Given the description of an element on the screen output the (x, y) to click on. 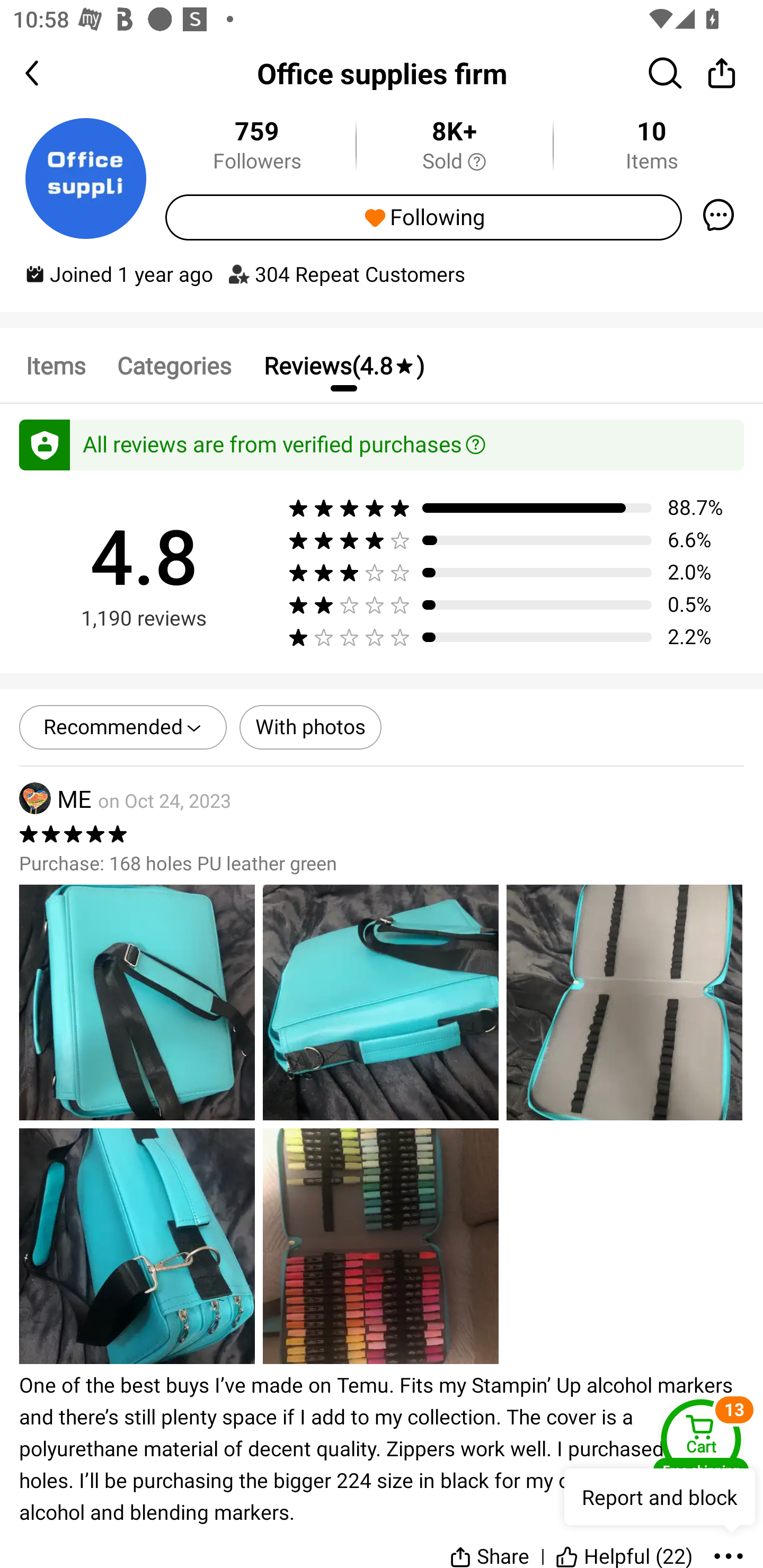
back (47, 72)
share (721, 72)
Sold (453, 161)
Items (55, 364)
Categories (174, 364)
Reviews(4.8 ) (343, 364)
All reviews are from verified purchases  (381, 445)
Recommended (122, 727)
With photos (310, 727)
ME (55, 798)
Cart Free shipping Cart (701, 1440)
  Share (489, 1546)
  Helpful (22) (624, 1546)
